Given the description of an element on the screen output the (x, y) to click on. 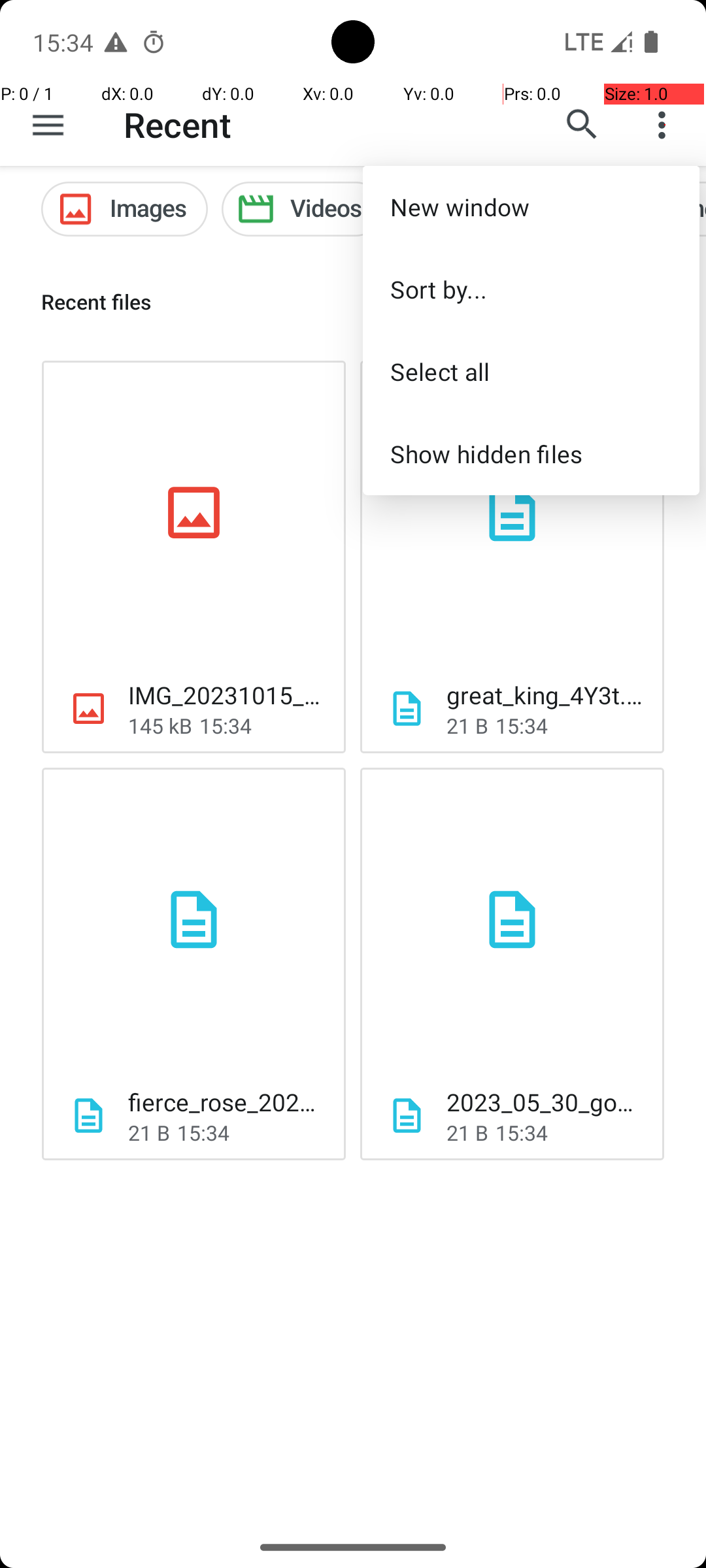
New window Element type: android.widget.TextView (531, 206)
Sort by... Element type: android.widget.TextView (531, 288)
Select all Element type: android.widget.TextView (531, 371)
Show hidden files Element type: android.widget.TextView (531, 453)
